Given the description of an element on the screen output the (x, y) to click on. 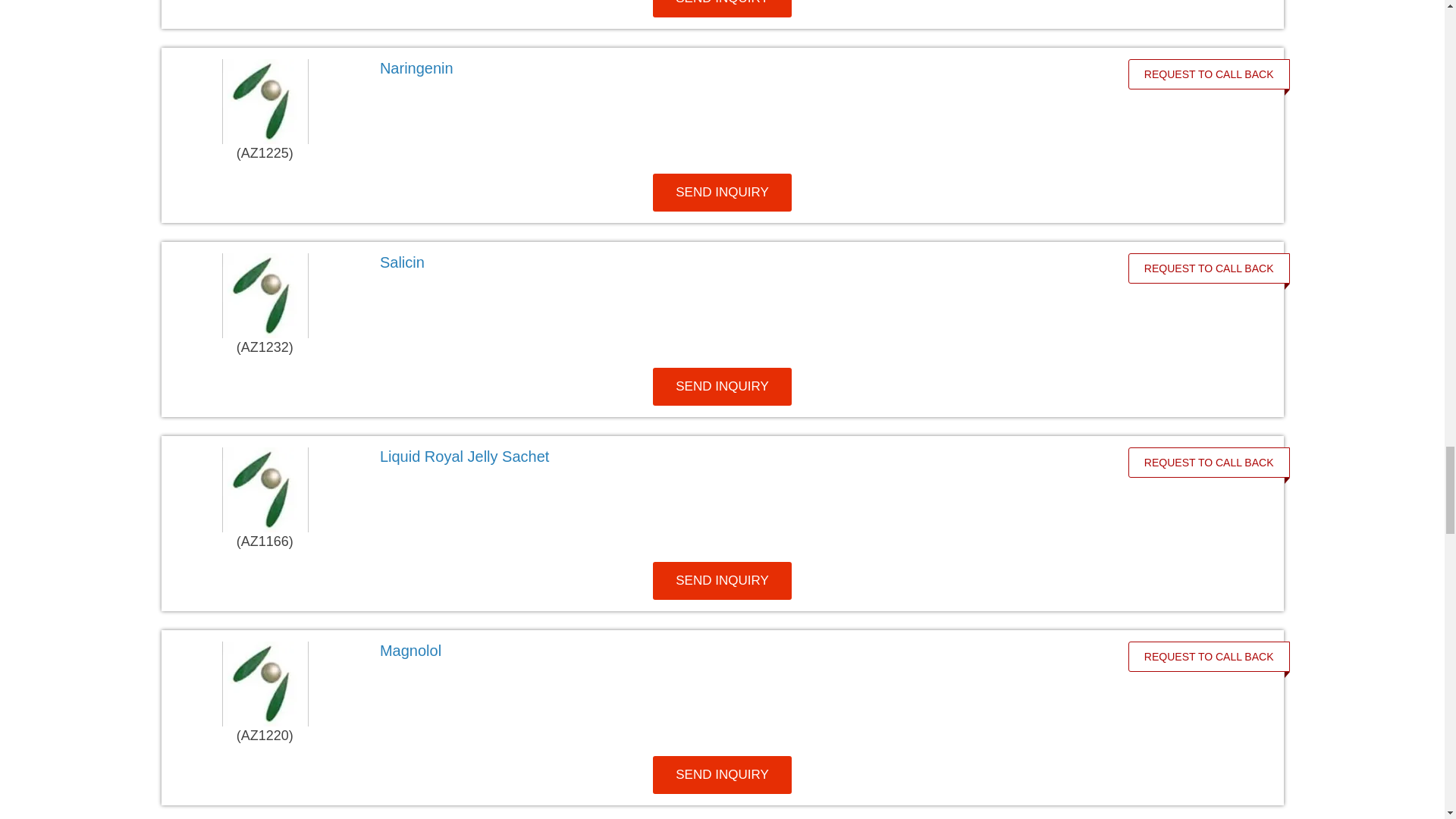
Liquid Royal Jelly Sachet (736, 456)
Magnolol (736, 650)
Naringenin (736, 67)
Salicin (736, 262)
